Given the description of an element on the screen output the (x, y) to click on. 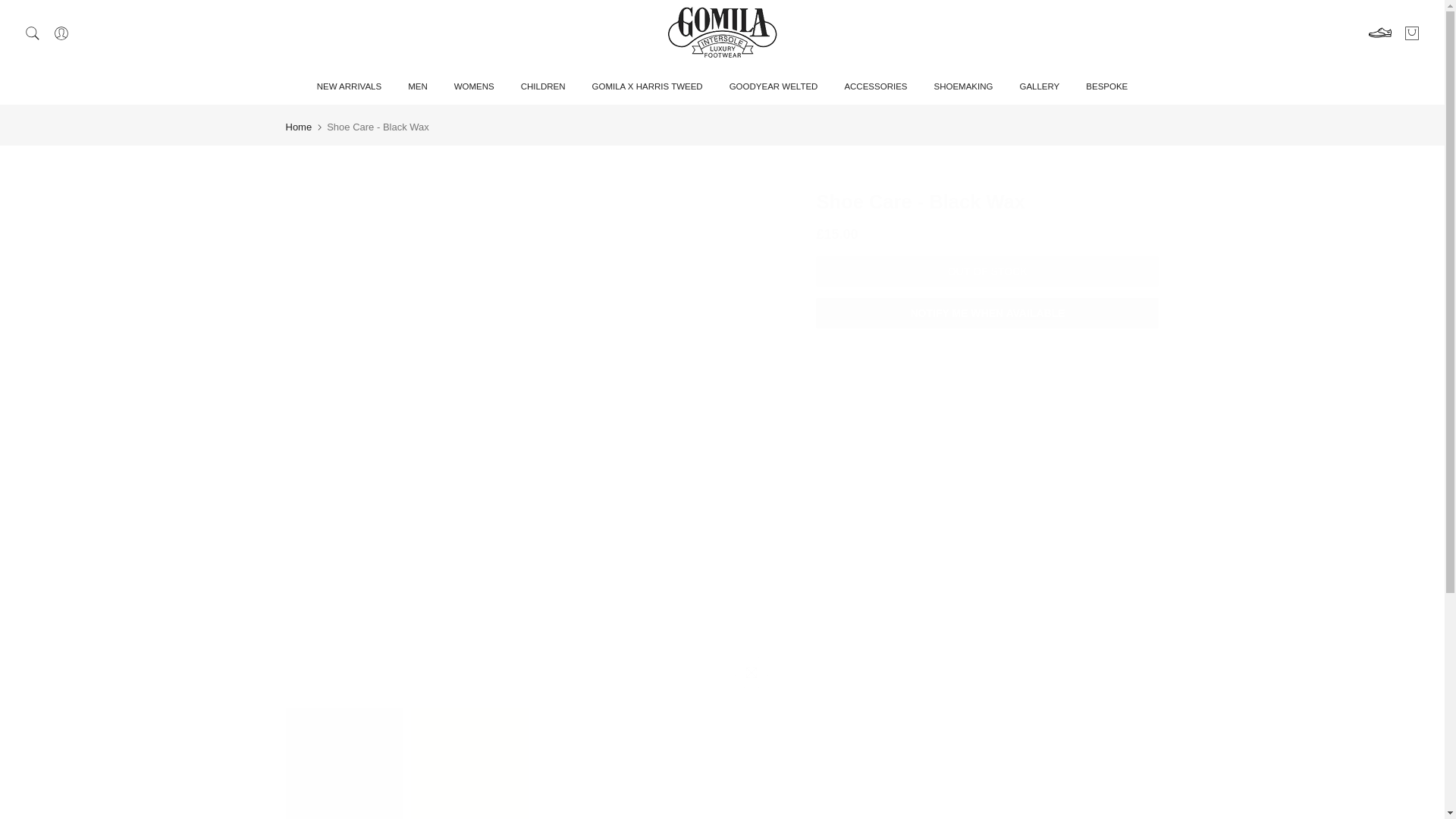
Lasts, Soles, Materials and Shoe Care (986, 426)
GOODYEAR WELTED (773, 86)
Home (298, 126)
GALLERY (1039, 86)
NOTIFY ME WHEN AVAILABLE (986, 312)
Description (986, 384)
BESPOKE (1107, 86)
NEW ARRIVALS (348, 86)
WOMENS (473, 86)
MEN (417, 86)
